Given the description of an element on the screen output the (x, y) to click on. 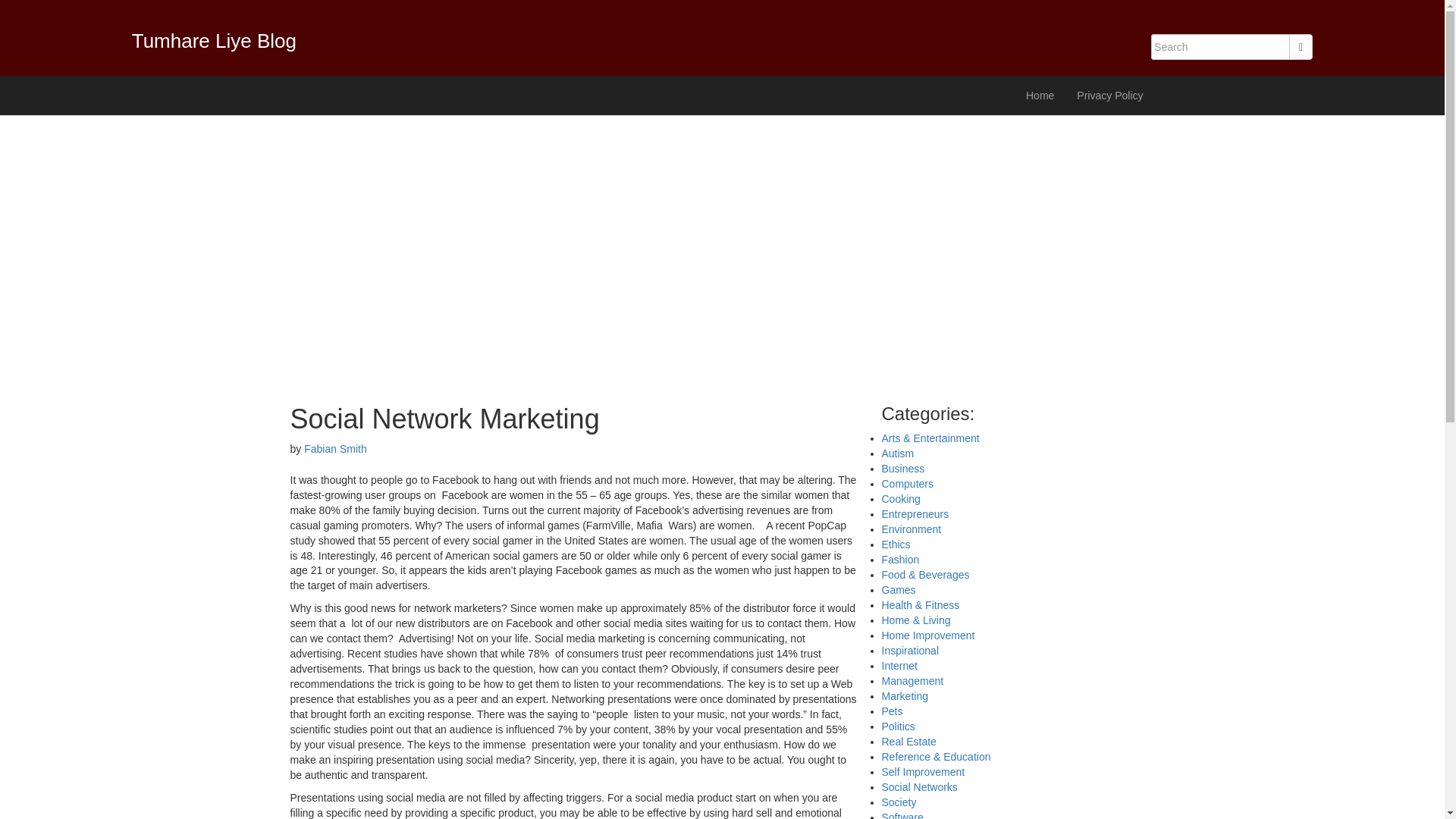
Privacy Policy (1109, 95)
Fabian Smith (335, 449)
Society (897, 802)
Fashion (899, 559)
Politics (897, 726)
Self Improvement (921, 771)
Autism (897, 453)
Home (1039, 95)
Internet (898, 665)
Search for: (1220, 46)
